Given the description of an element on the screen output the (x, y) to click on. 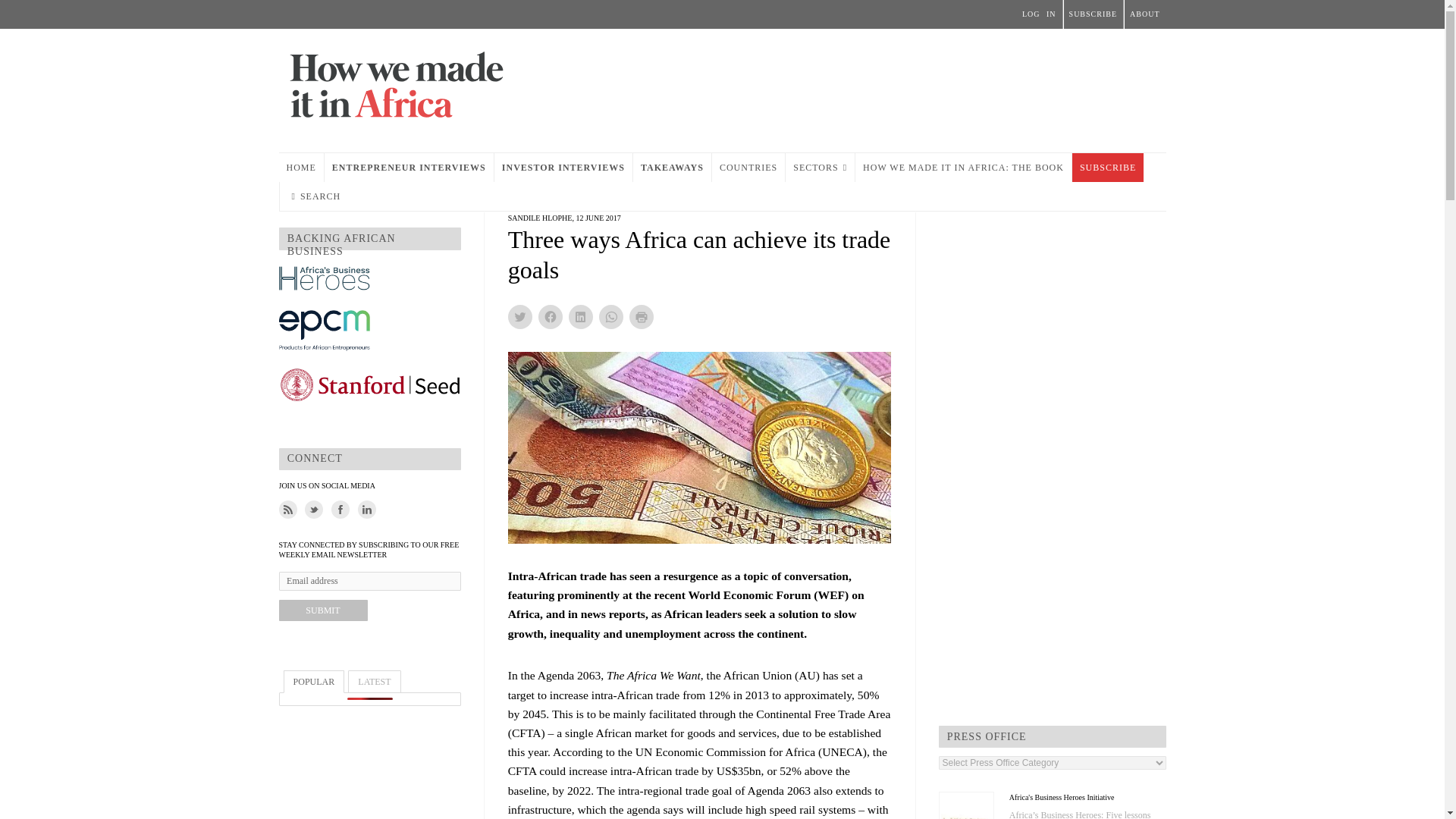
3rd party ad content (890, 87)
SANDILE HLOPHE (540, 217)
Posts by Sandile Hlophe (540, 217)
Click to print (640, 316)
SEARCH (315, 195)
SECTORS (820, 167)
Click to share on Facebook (550, 316)
HOW WE MADE IT IN AFRICA: THE BOOK (963, 167)
Click to share on Twitter (520, 316)
Submit (323, 609)
COUNTRIES (747, 167)
TAKEAWAYS (672, 167)
HOME (301, 167)
Click to share on LinkedIn (580, 316)
Click to share on WhatsApp (610, 316)
